Given the description of an element on the screen output the (x, y) to click on. 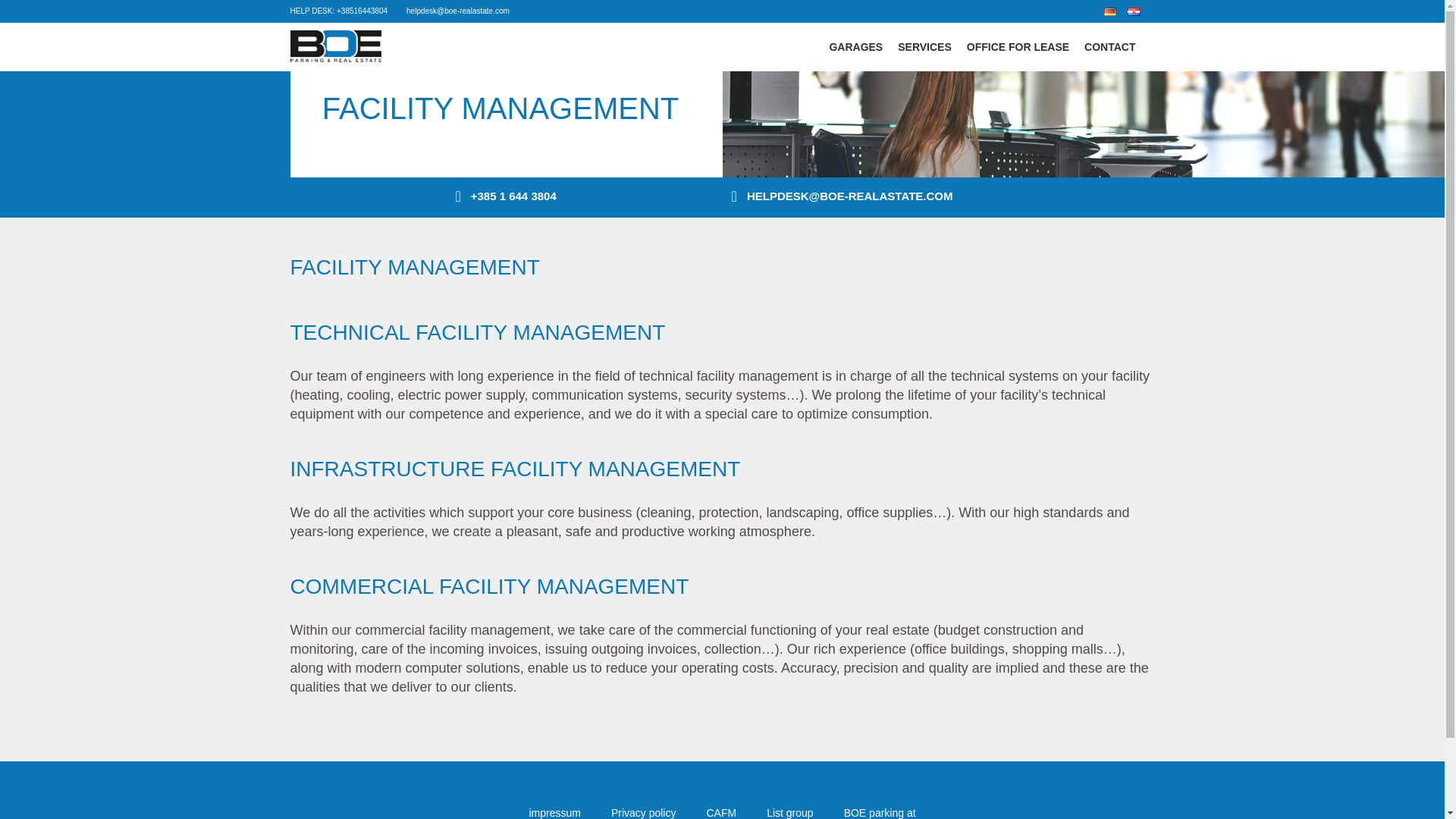
CONTACT (1109, 46)
Privacy policy (644, 812)
List group (789, 812)
OFFICE FOR LEASE (1018, 46)
SERVICES (924, 46)
impressum (553, 812)
GARAGES (855, 46)
BOE parking at (879, 812)
CAFM (721, 812)
